Given the description of an element on the screen output the (x, y) to click on. 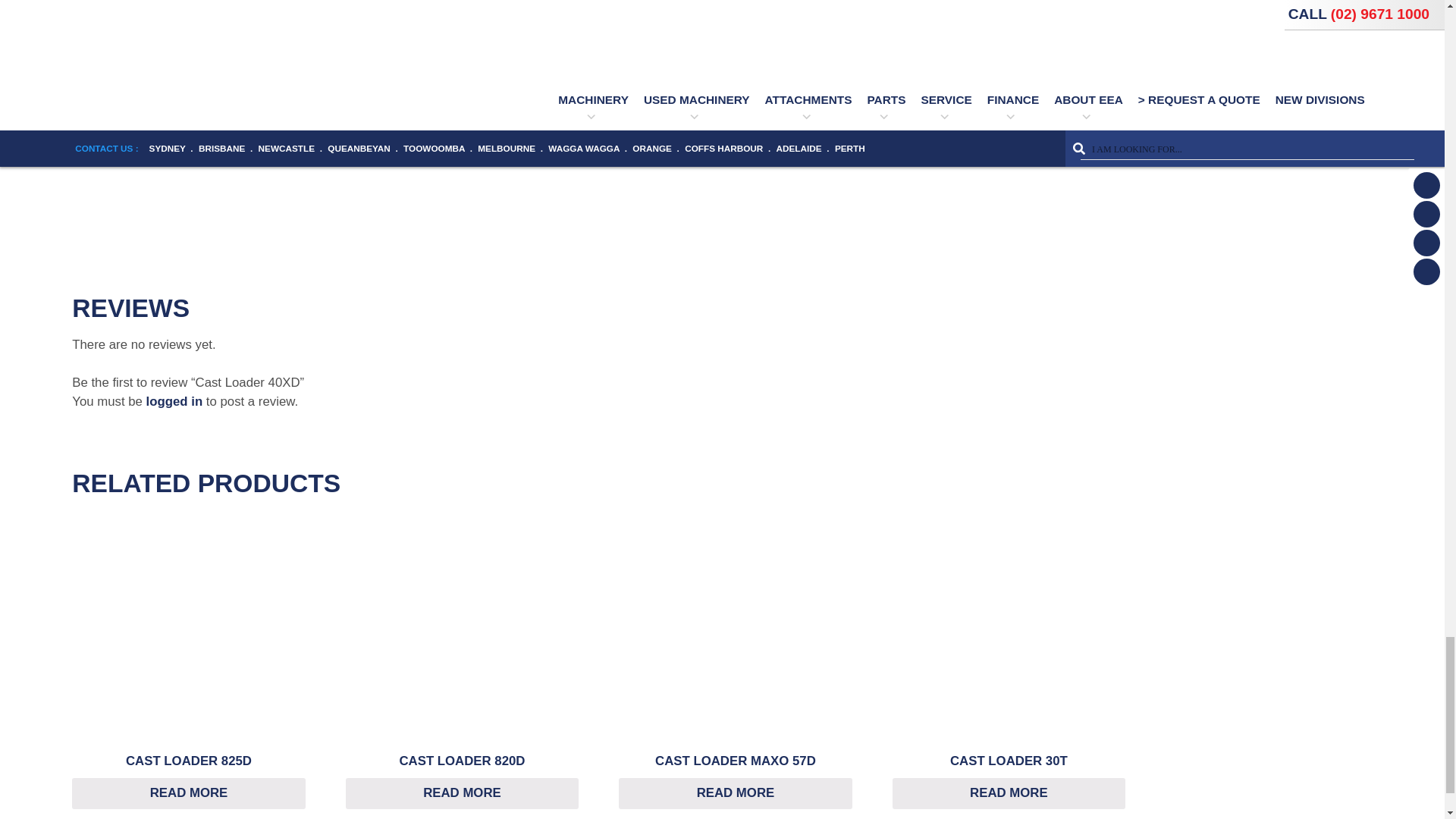
Cast Loader (600, 187)
